Given the description of an element on the screen output the (x, y) to click on. 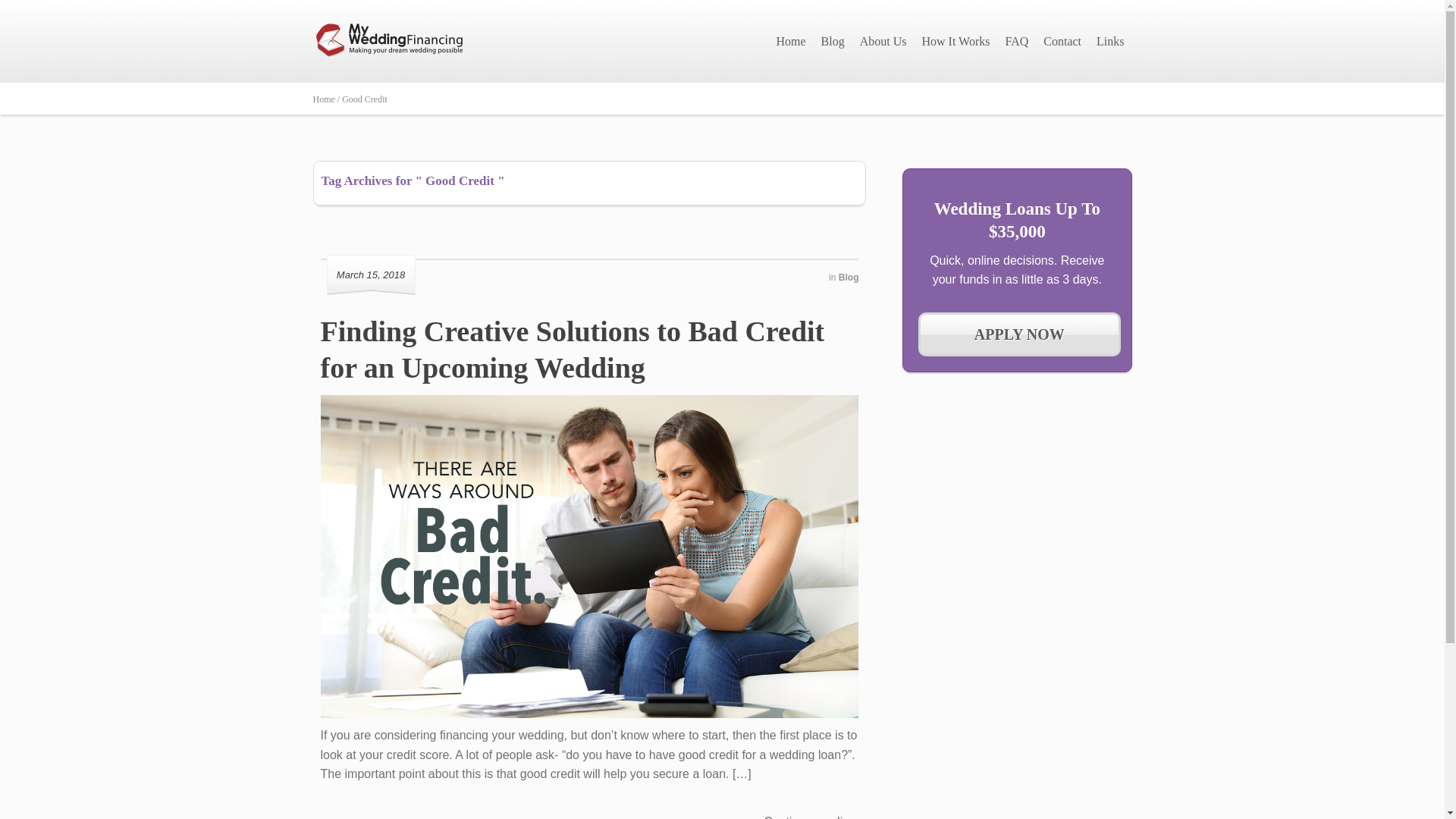
APPLY NOW (1018, 334)
Contact (1062, 41)
Continue reading (814, 815)
Blog (848, 276)
FAQ (1016, 41)
Links (1110, 41)
Home (790, 41)
About Us (882, 41)
